Given the description of an element on the screen output the (x, y) to click on. 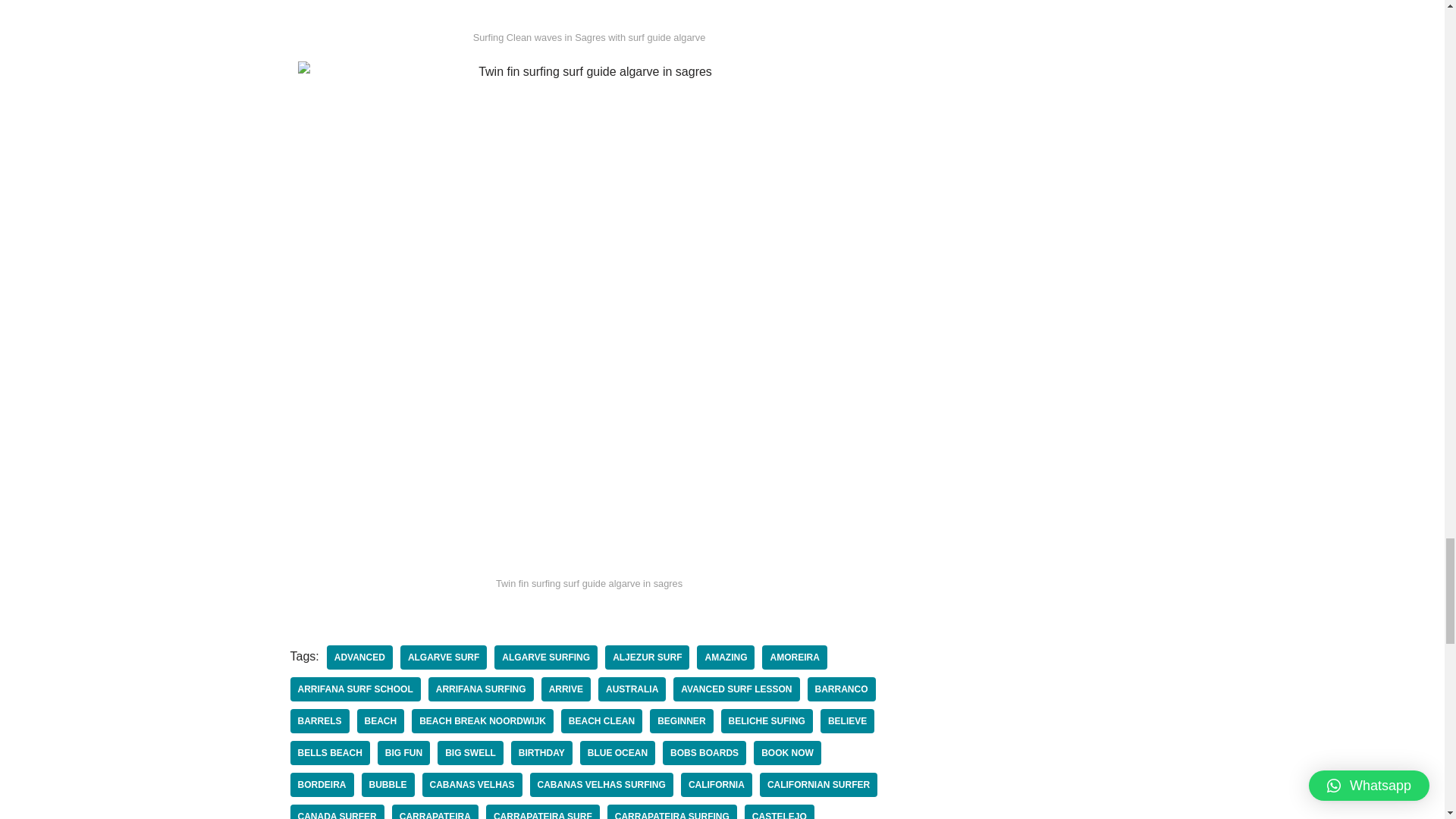
amoreira (794, 657)
avanced surf lesson (735, 689)
australia (631, 689)
aljezur surf (646, 657)
Algarve Surf (443, 657)
arrifana surfing (481, 689)
amazing (725, 657)
arrifana surf school (354, 689)
arrive (566, 689)
advanced (359, 657)
